Given the description of an element on the screen output the (x, y) to click on. 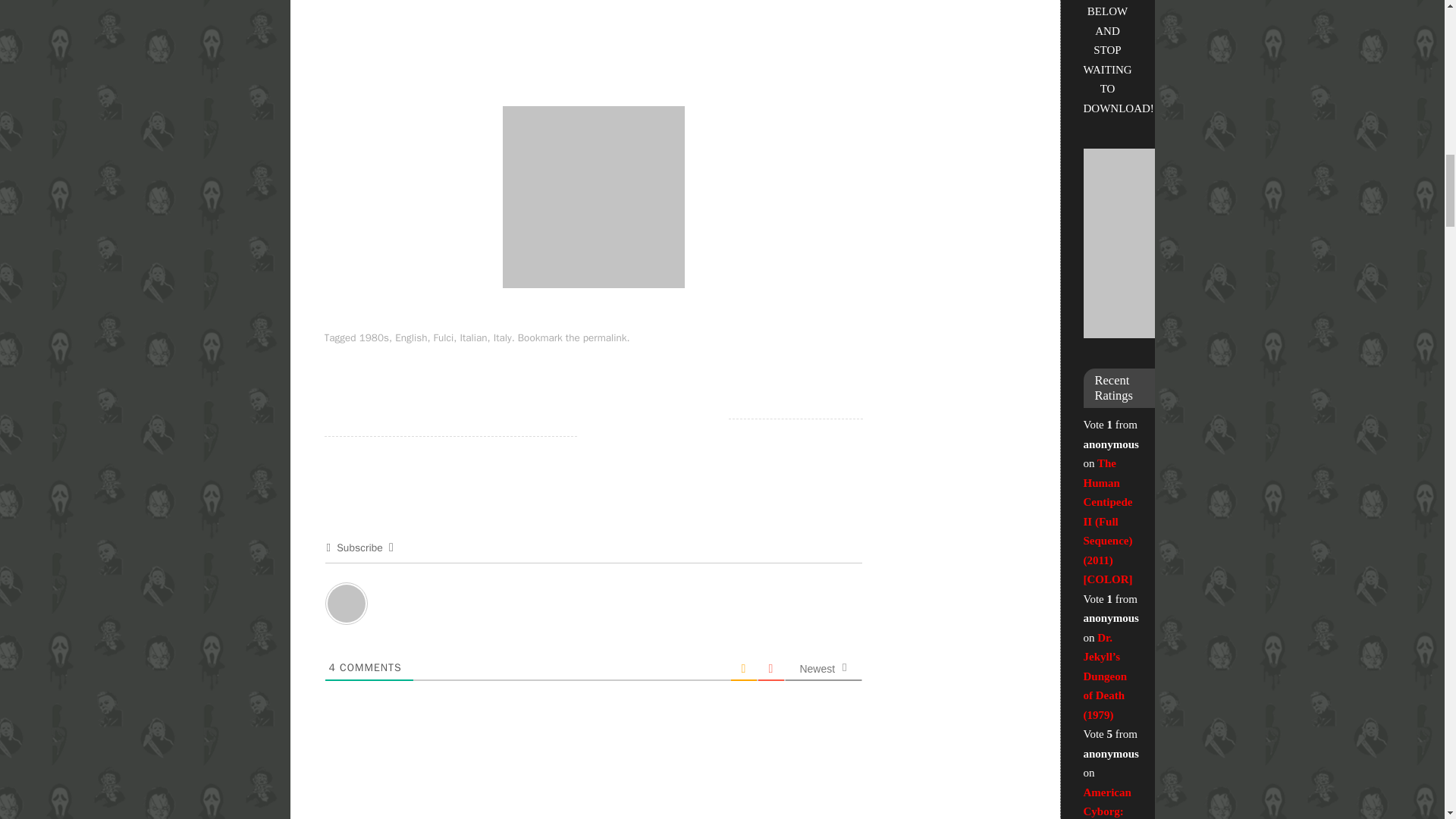
English (410, 337)
Italy (502, 337)
Fulci (443, 337)
1980s (373, 337)
Italian (473, 337)
